Given the description of an element on the screen output the (x, y) to click on. 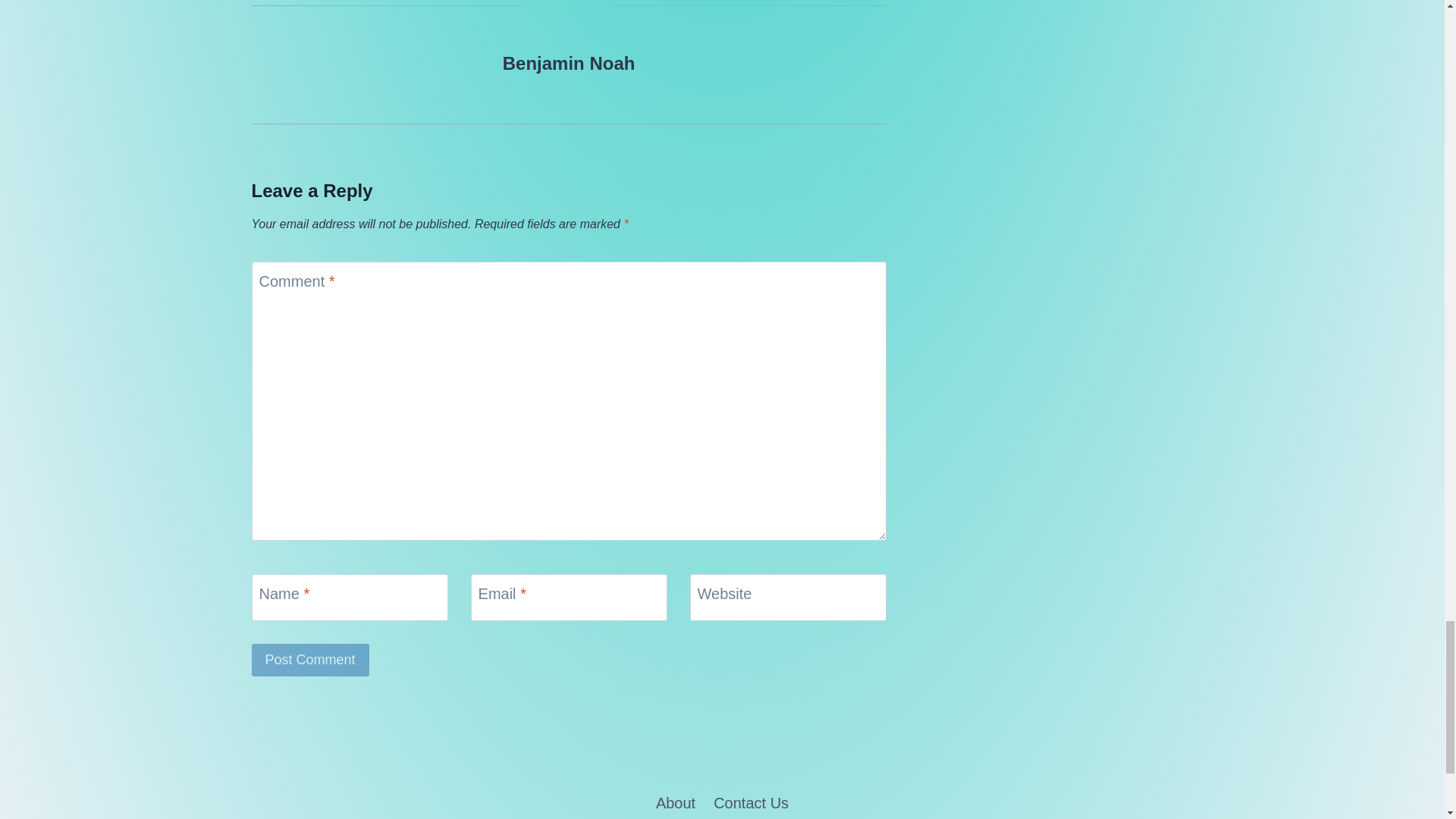
Post Comment (310, 659)
About (675, 800)
Post Comment (310, 659)
Contact Us (750, 800)
